Given the description of an element on the screen output the (x, y) to click on. 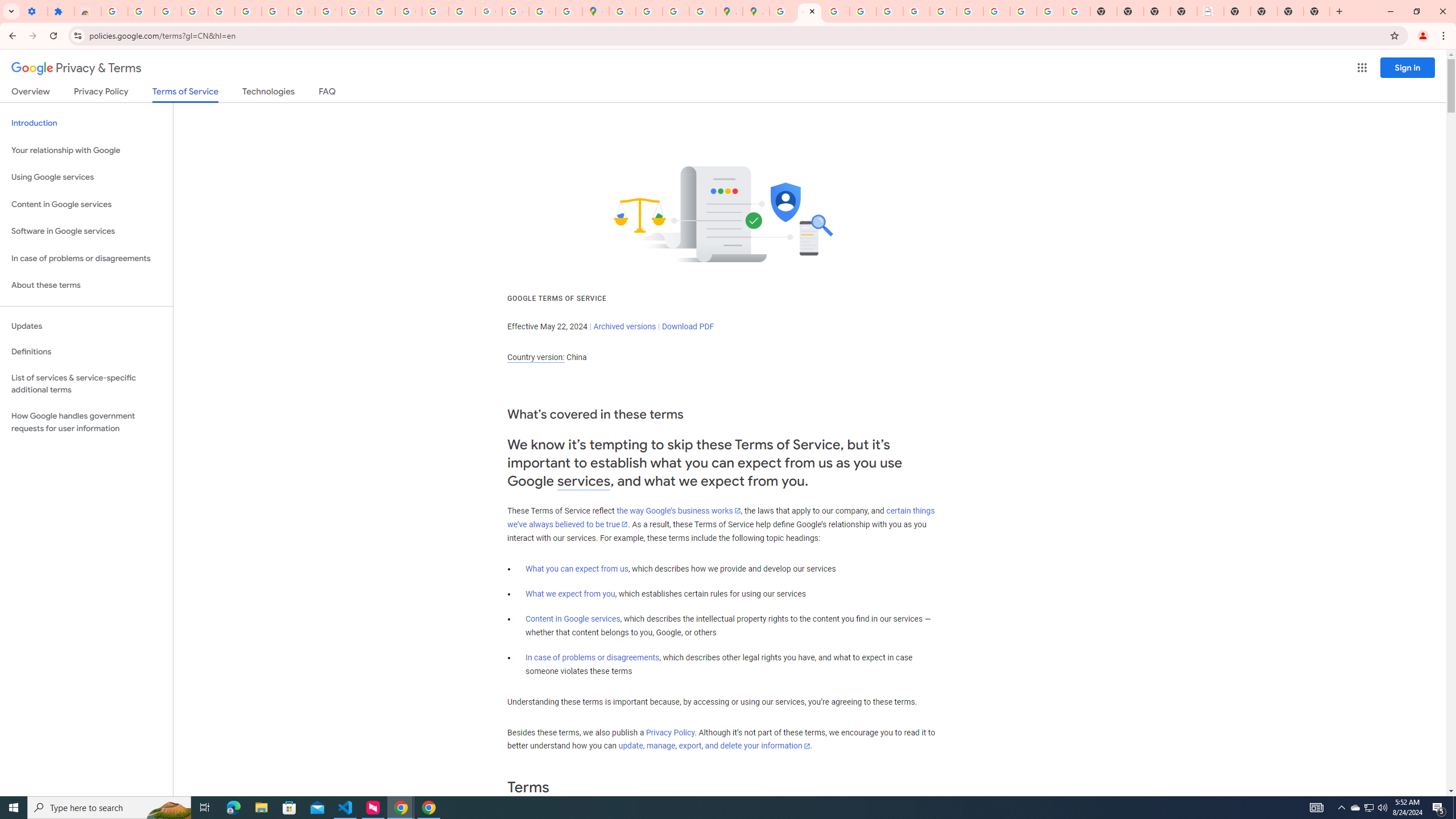
Google Account (301, 11)
Google Maps (595, 11)
How Google handles government requests for user information (86, 422)
LAAD Defence & Security 2025 | BAE Systems (1210, 11)
Your relationship with Google (86, 150)
Sign in - Google Accounts (114, 11)
Archived versions (624, 326)
Definitions (86, 352)
